Given the description of an element on the screen output the (x, y) to click on. 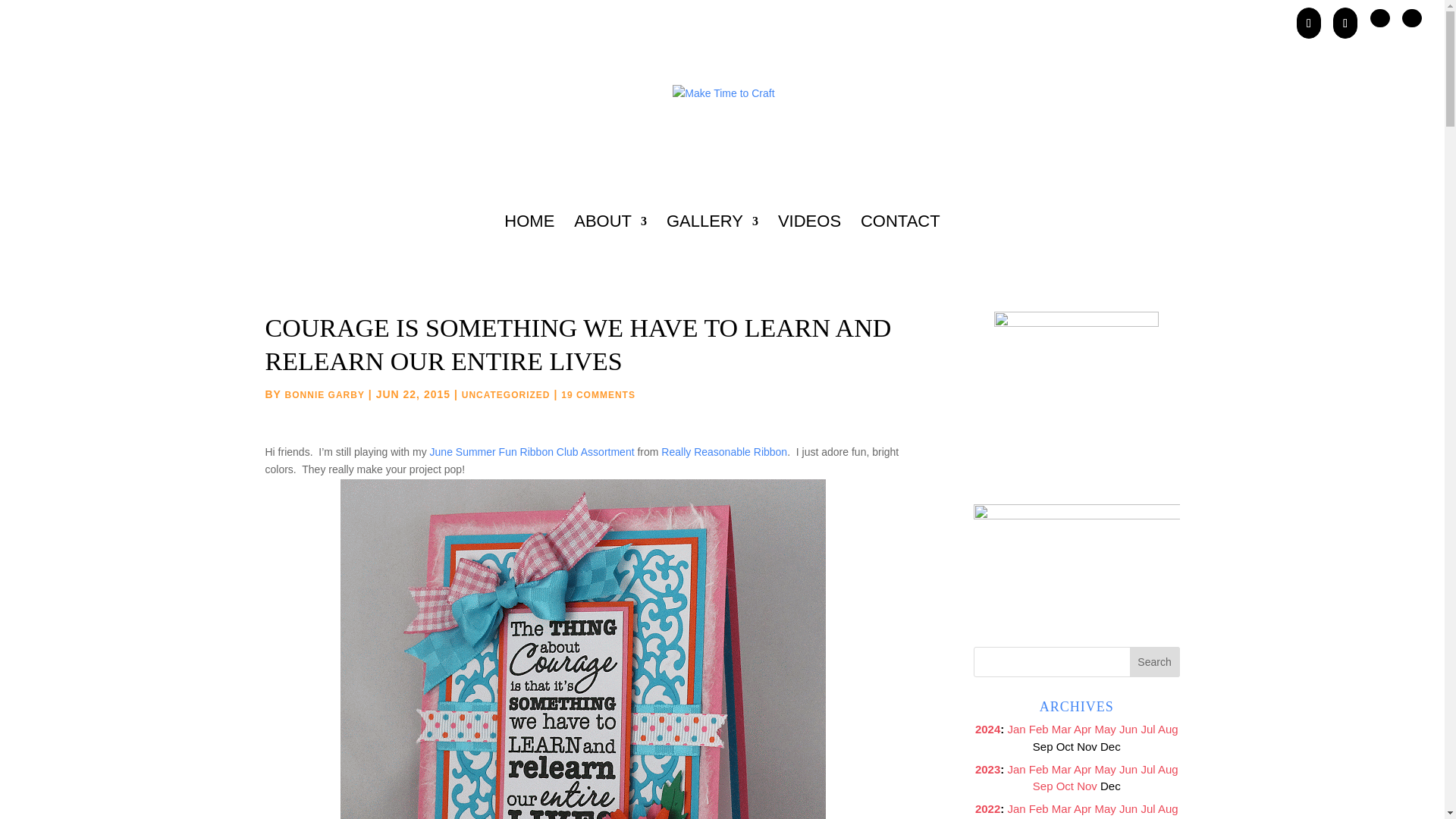
HOME (528, 240)
Really Reasonable Ribbon (724, 451)
May 2001 (1105, 728)
July 2001 (1147, 728)
ABOUT (609, 240)
June Summer Fun Ribbon Club Assortment (531, 451)
19 COMMENTS (597, 394)
Posts by Bonnie Garby (325, 394)
Search (1154, 662)
February 2001 (1038, 728)
